Given the description of an element on the screen output the (x, y) to click on. 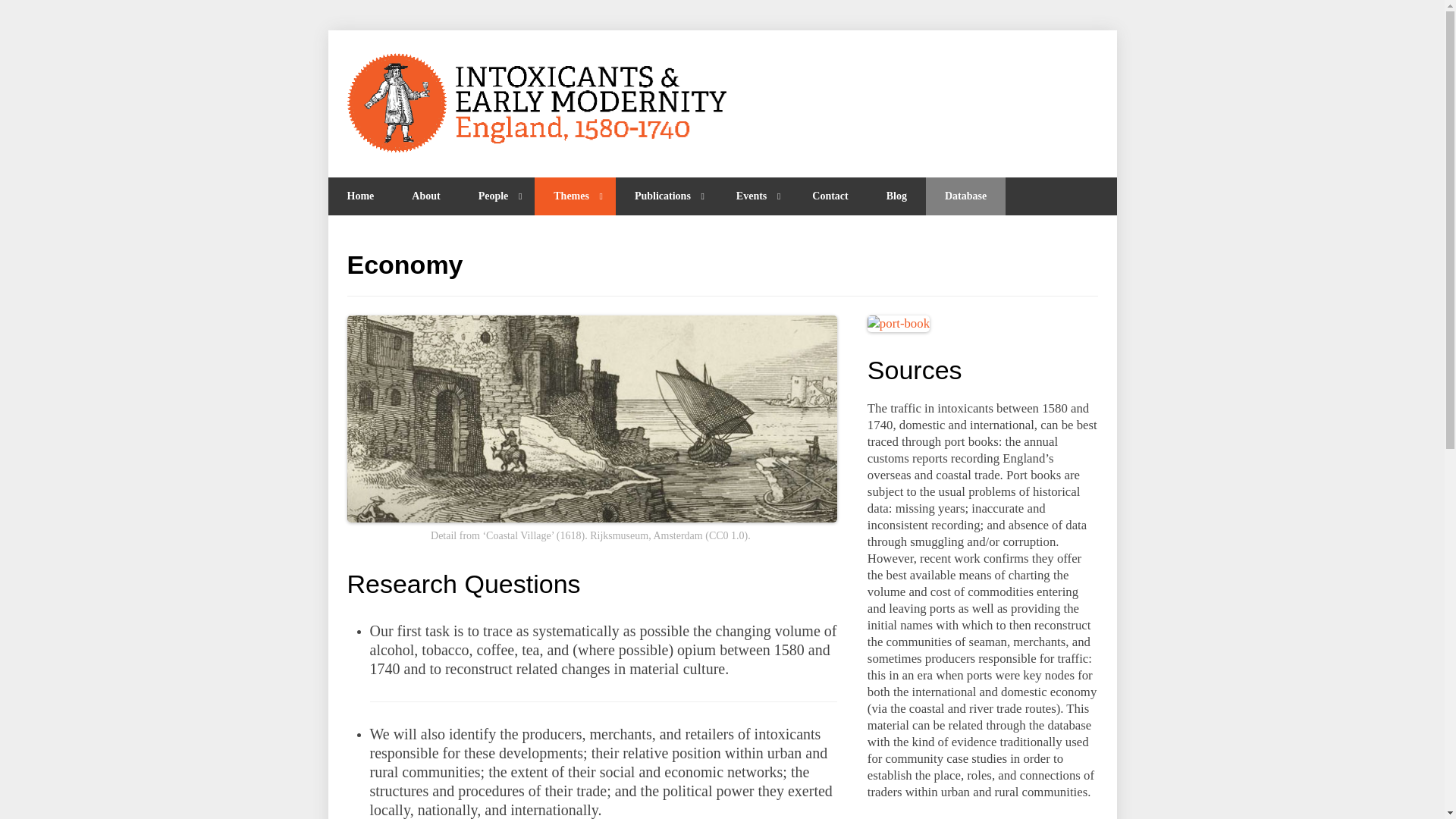
Publications (666, 196)
Home (360, 196)
People (497, 196)
Intoxicants and Early Modernity (536, 100)
Database (966, 196)
Blog (896, 196)
Themes (574, 196)
Events (755, 196)
Contact (829, 196)
About (425, 196)
